Given the description of an element on the screen output the (x, y) to click on. 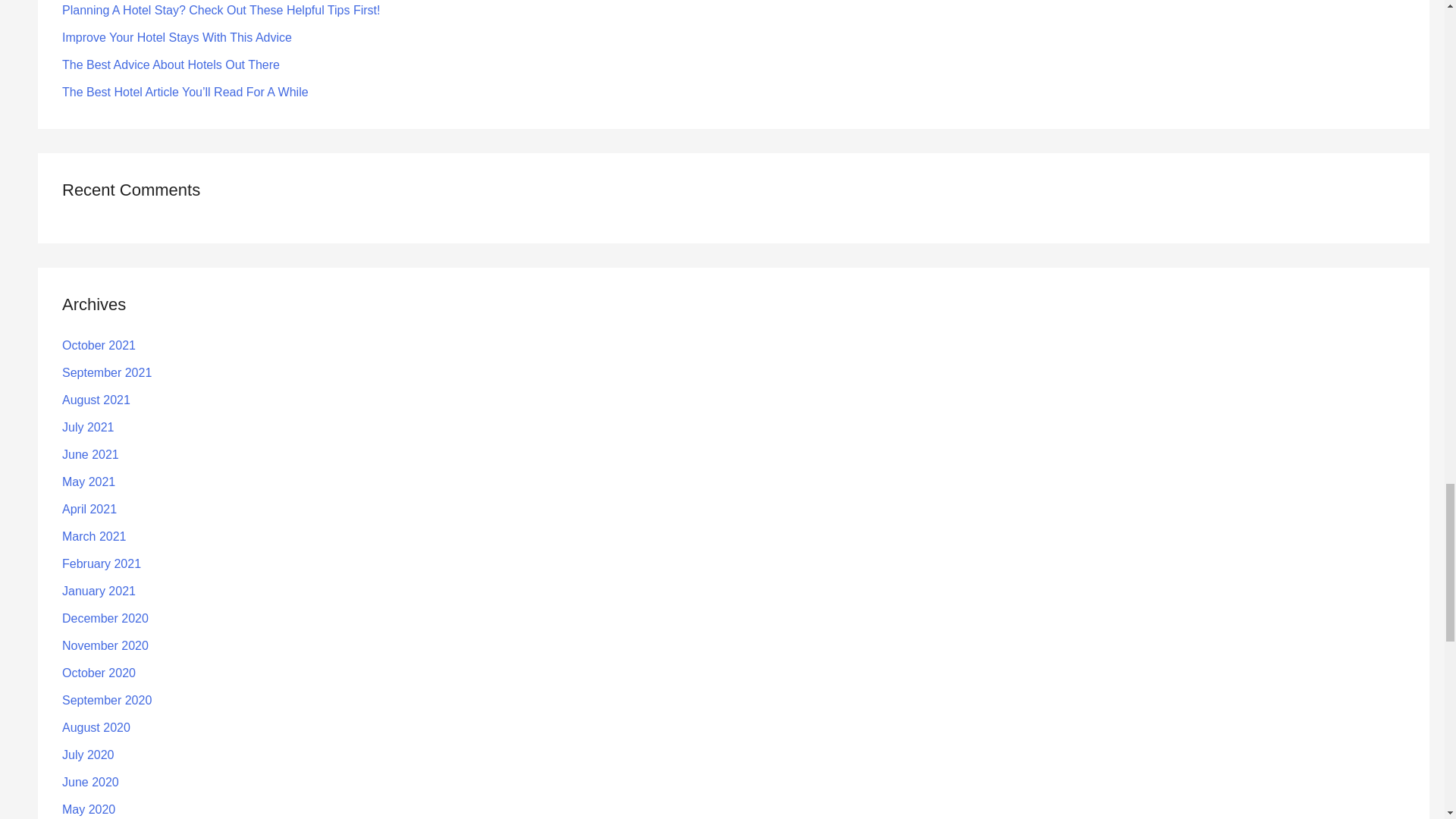
January 2021 (98, 590)
May 2020 (88, 809)
February 2021 (101, 563)
Planning A Hotel Stay? Check Out These Helpful Tips First! (221, 10)
June 2021 (90, 454)
The Best Advice About Hotels Out There (170, 64)
July 2021 (88, 427)
May 2021 (88, 481)
June 2020 (90, 781)
October 2021 (98, 345)
